Given the description of an element on the screen output the (x, y) to click on. 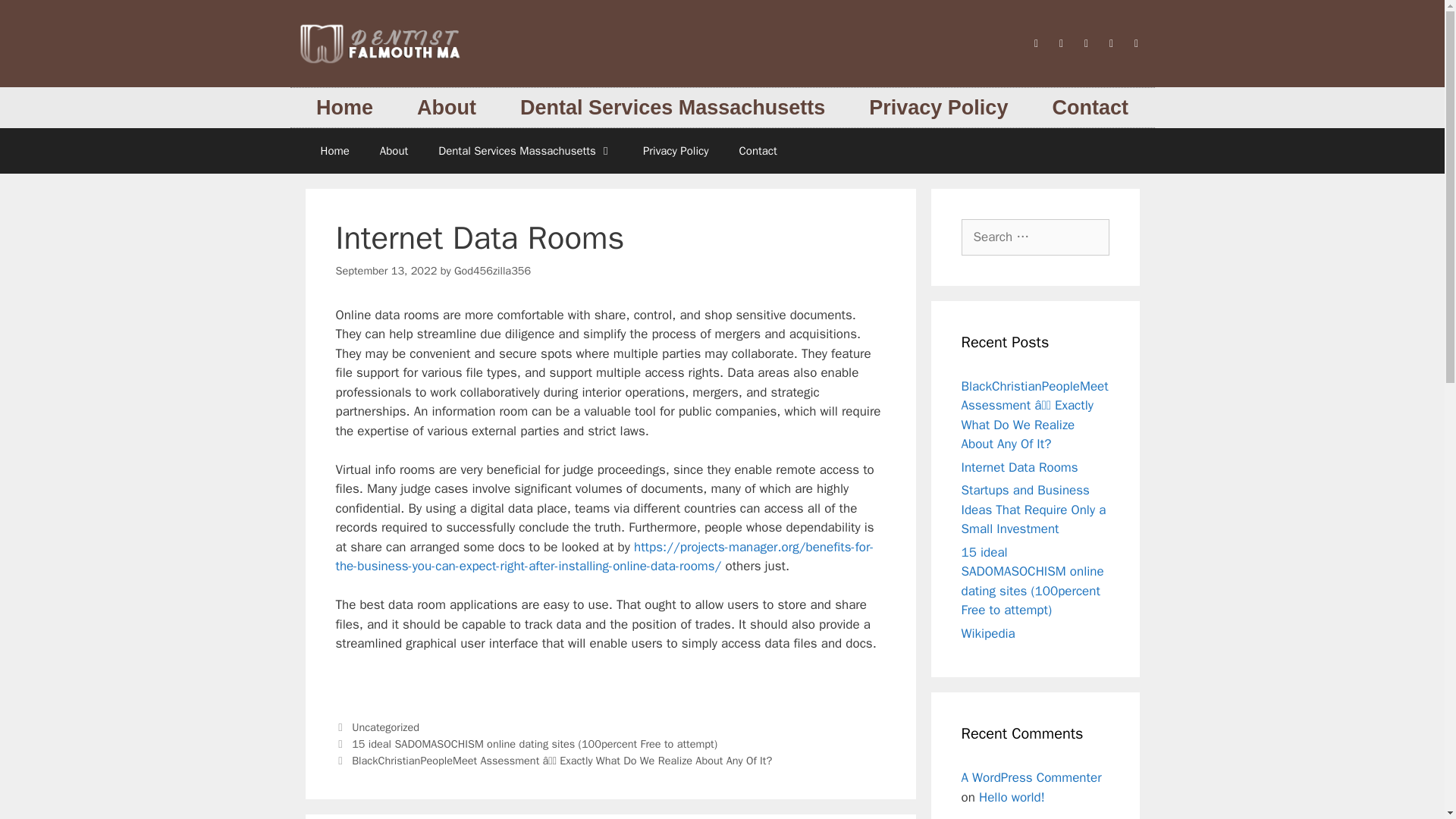
Uncategorized (385, 726)
Dental Services Massachusetts (672, 107)
About (445, 107)
Privacy Policy (675, 150)
About (394, 150)
Dental Services Massachusetts (525, 150)
Search for: (1034, 237)
God456zilla356 (492, 270)
Privacy Policy (938, 107)
Home (334, 150)
